Given the description of an element on the screen output the (x, y) to click on. 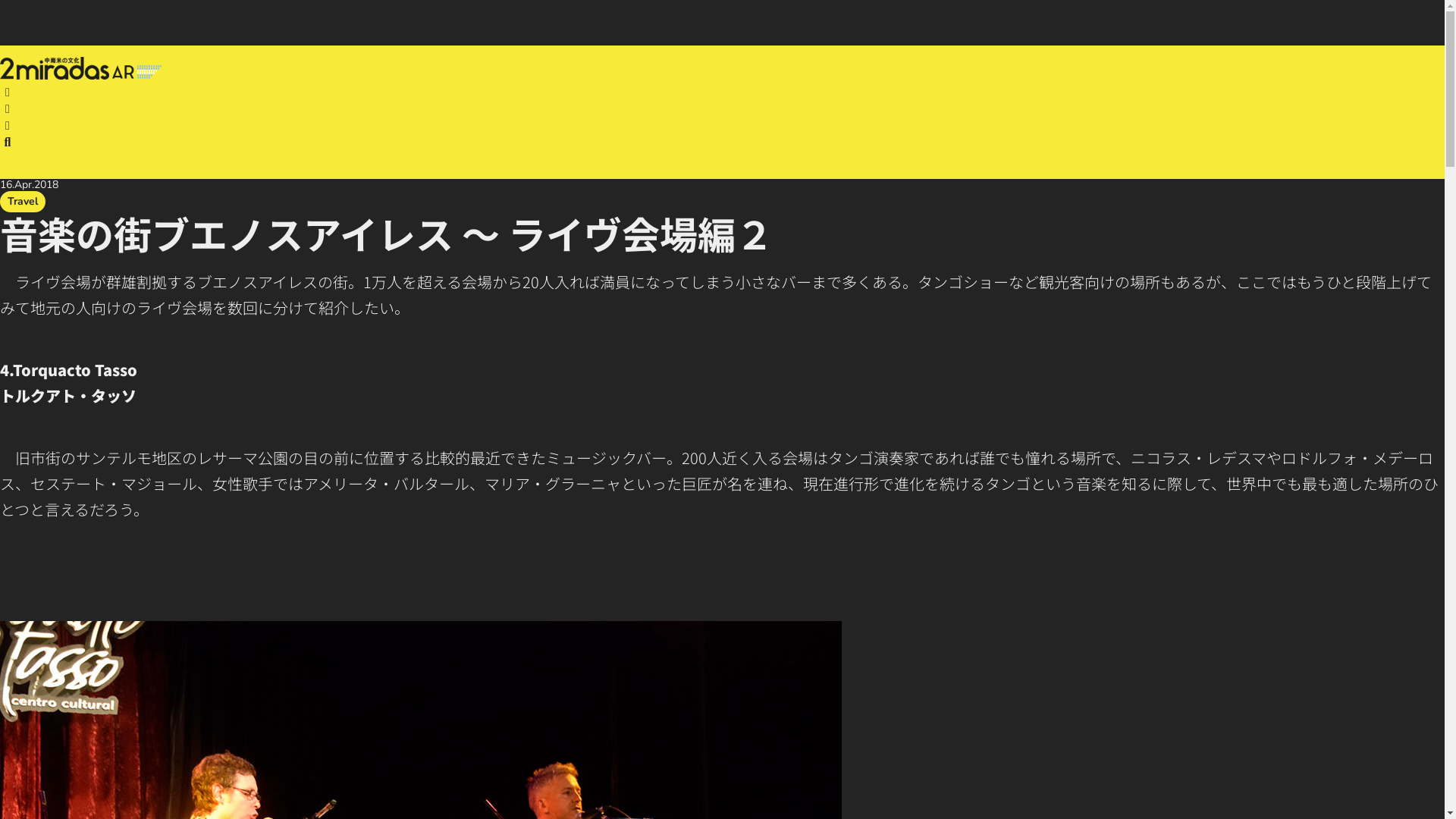
Travel Element type: text (22, 201)
